Given the description of an element on the screen output the (x, y) to click on. 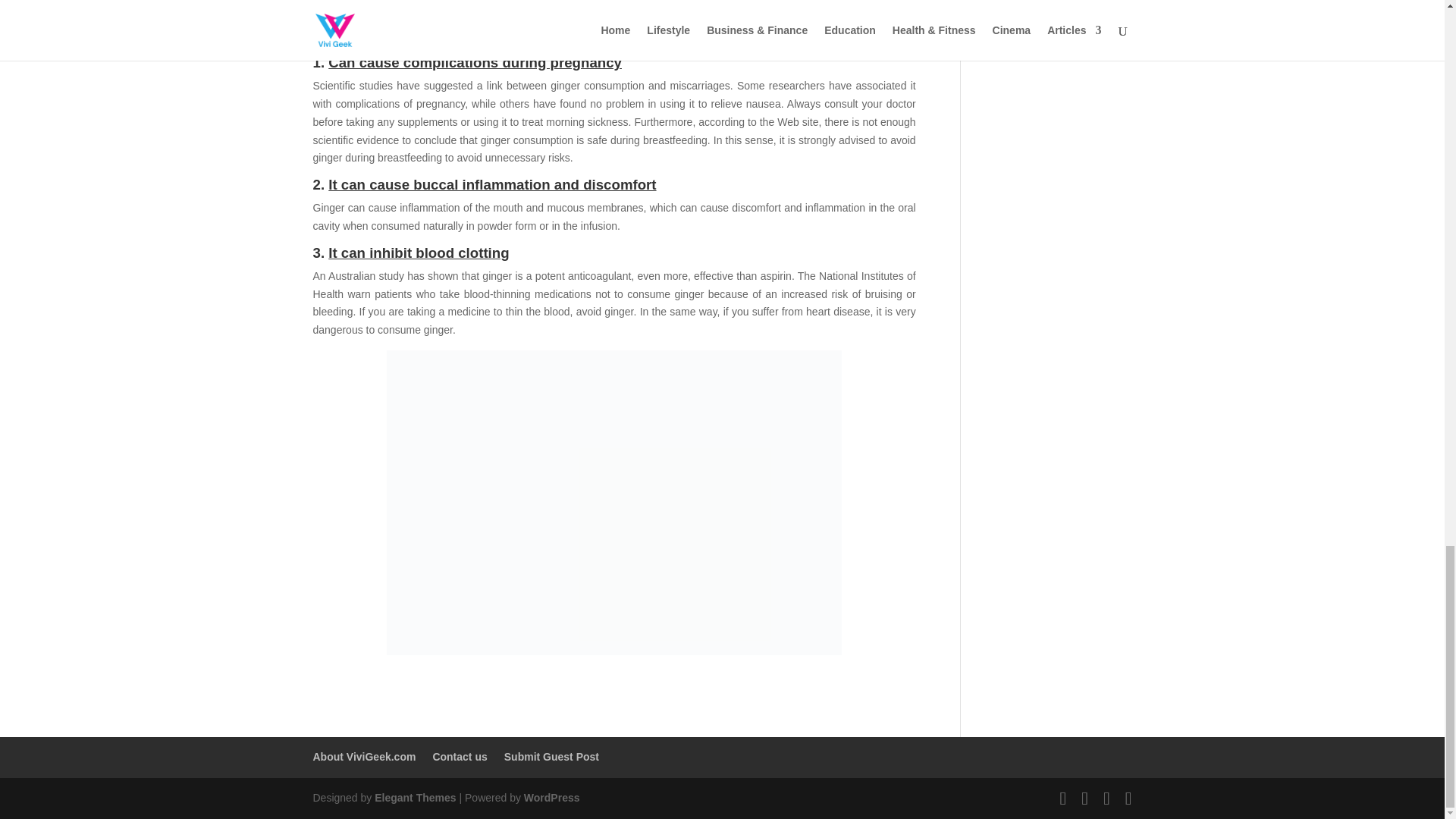
Ginger: Health Benefits, Facts, and Side Effects 1 (614, 6)
Submit Guest Post (550, 756)
About ViviGeek.com (363, 756)
Contact us (459, 756)
WordPress (551, 797)
Premium WordPress Themes (414, 797)
Elegant Themes (414, 797)
